Given the description of an element on the screen output the (x, y) to click on. 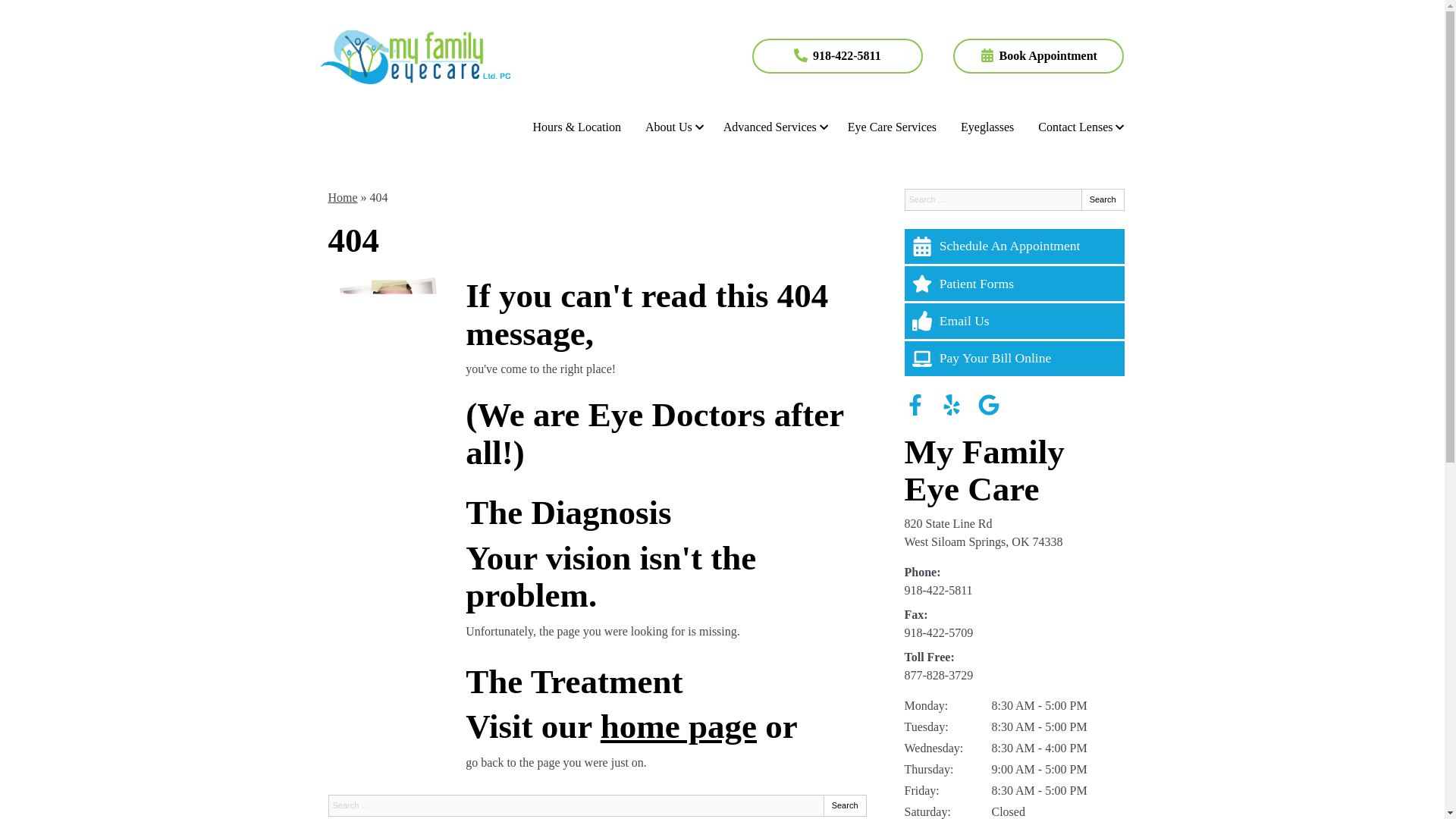
Book Appointment (1038, 55)
Advanced Services (773, 126)
Eye Care Services (892, 126)
Contact Lenses (1078, 126)
918-422-5811 (837, 55)
About Us (672, 126)
Eyeglasses (987, 126)
